Given the description of an element on the screen output the (x, y) to click on. 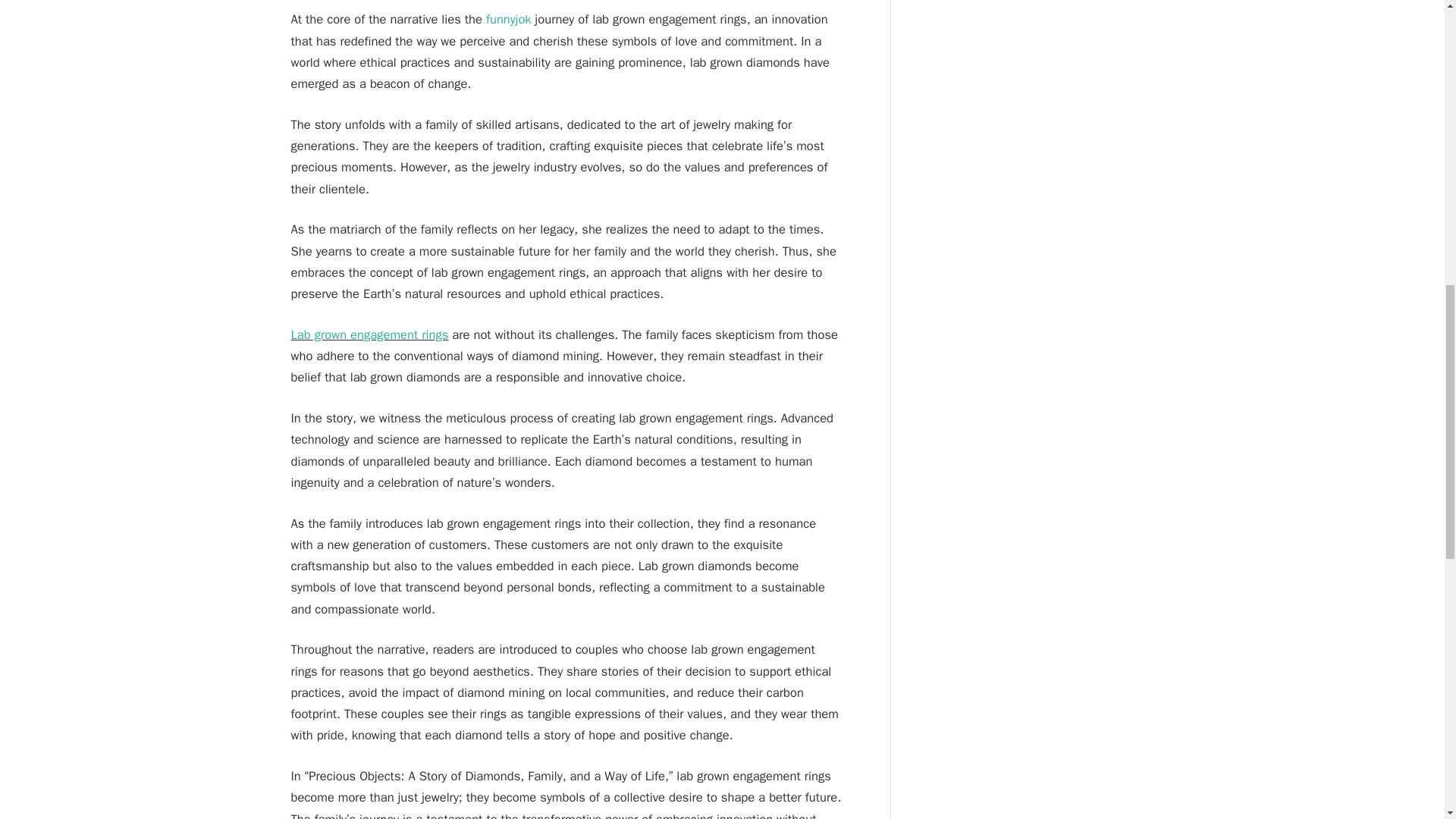
funnyjok (508, 19)
Lab grown engagement rings (369, 334)
